Given the description of an element on the screen output the (x, y) to click on. 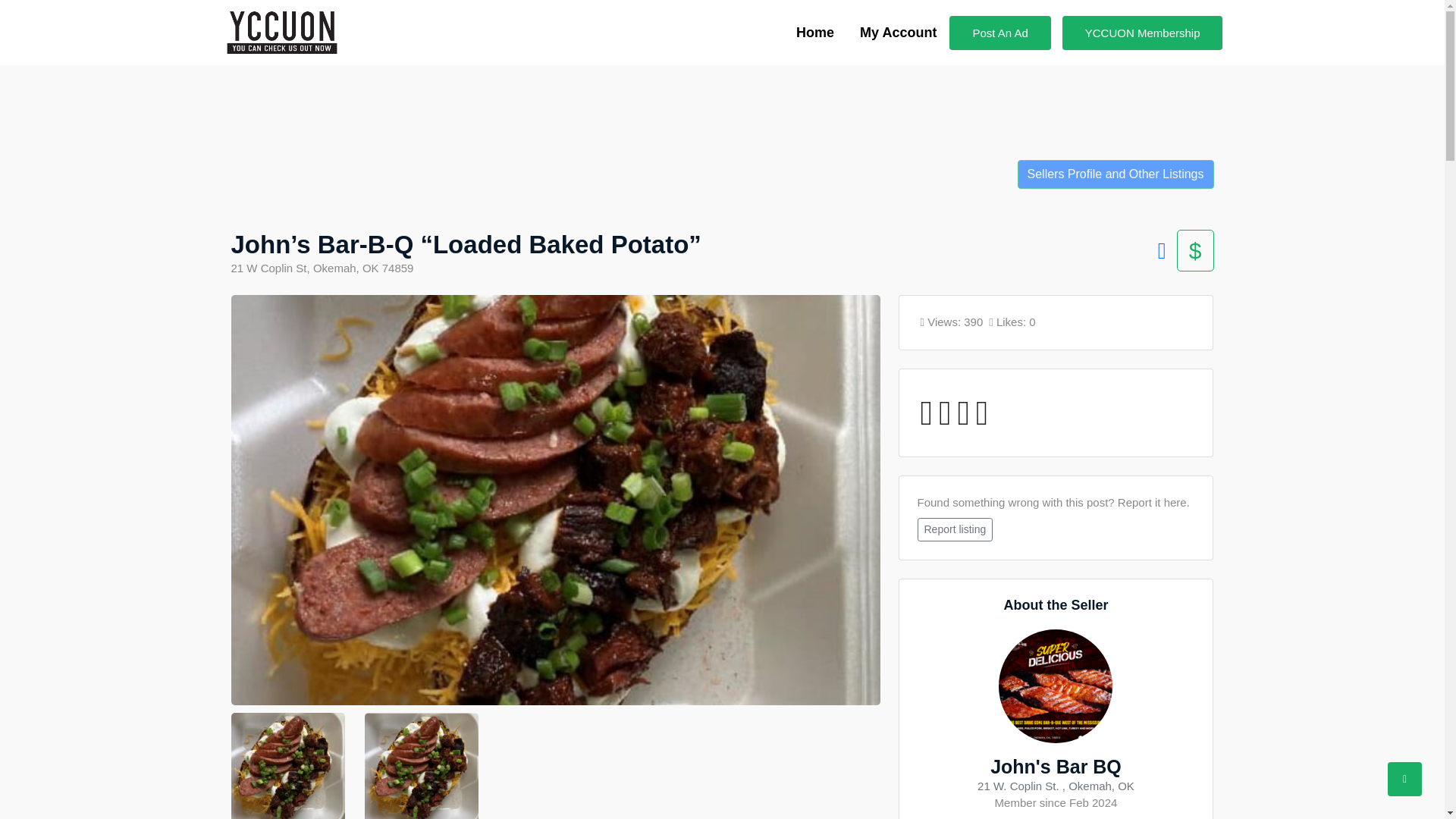
Sellers Profile and Other Listings (1115, 174)
YCCUON Membership (1142, 32)
Home (815, 32)
Post An Ad (999, 32)
My Account (898, 32)
